Given the description of an element on the screen output the (x, y) to click on. 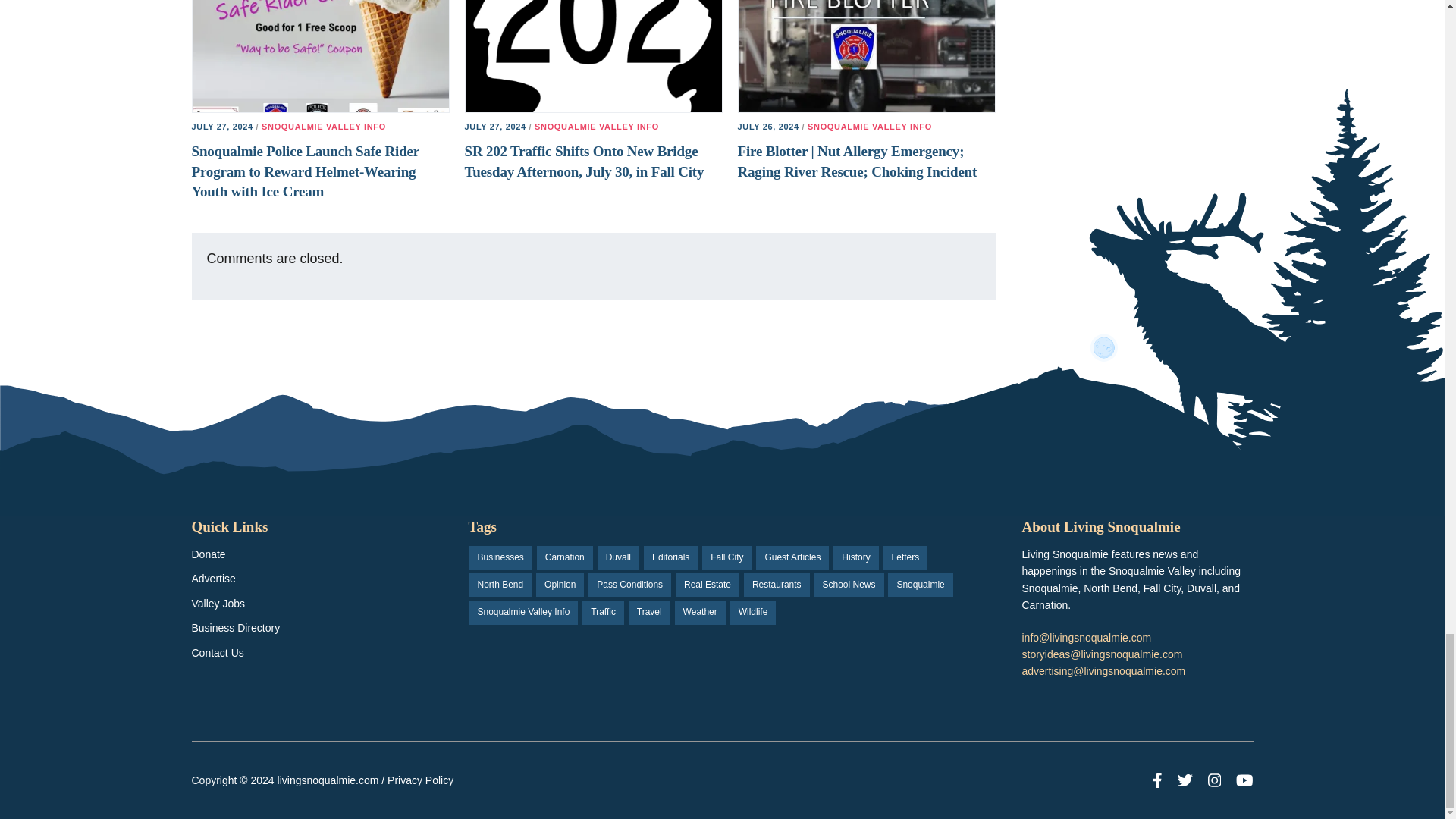
SNOQUALMIE VALLEY INFO (323, 126)
